Given the description of an element on the screen output the (x, y) to click on. 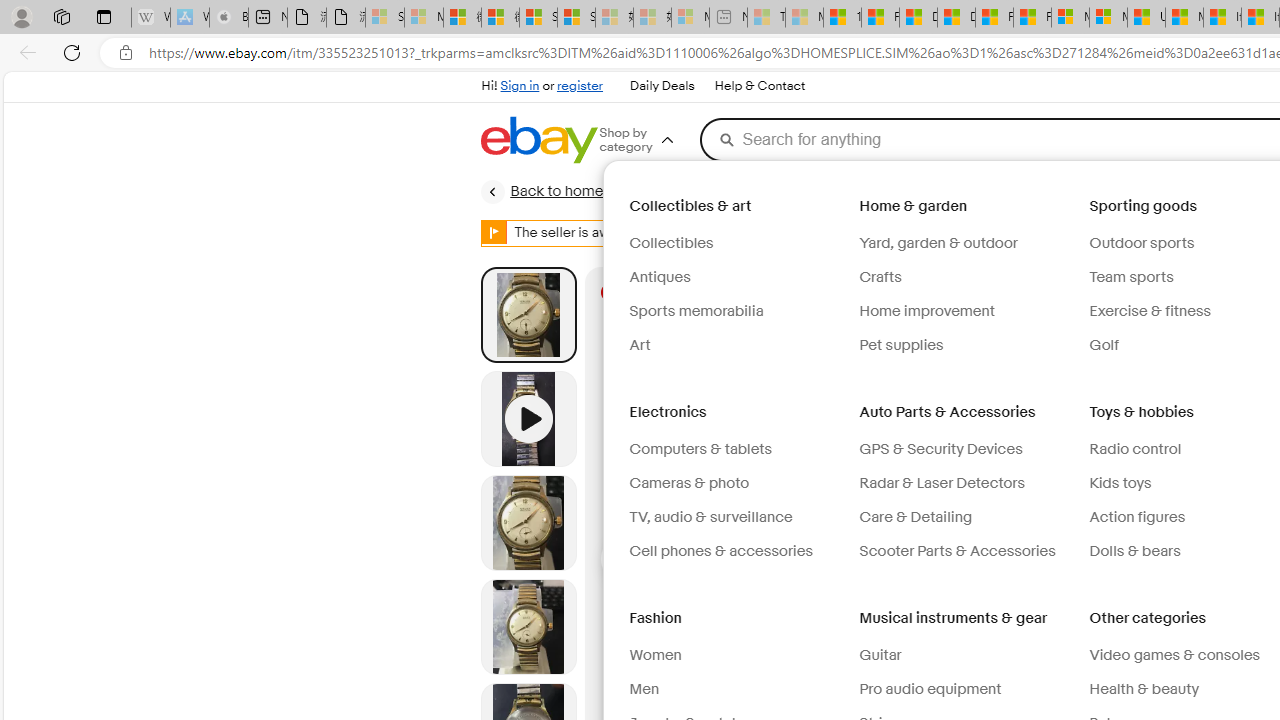
Cell phones & accessories (720, 551)
Video games & consoles (1174, 655)
Pro audio equipment (966, 690)
Pet supplies (901, 345)
Picture 1 of 13 (528, 313)
Collectibles & art (692, 206)
Art (736, 345)
Jewelry & Watches (734, 191)
WARNING (493, 232)
Guitar (966, 656)
